Given the description of an element on the screen output the (x, y) to click on. 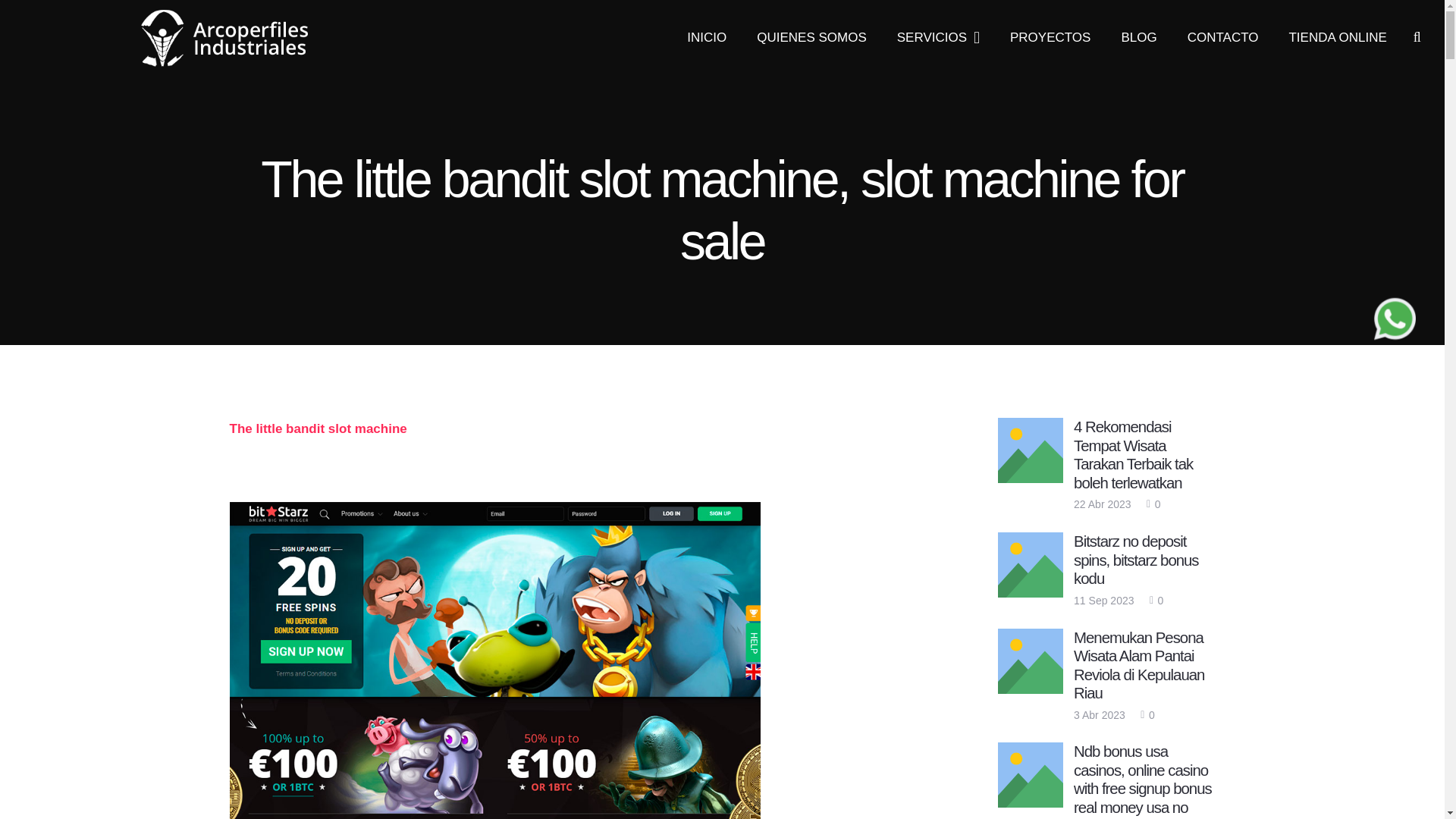
Bitstarz no deposit spins, bitstarz bonus kodu (1136, 560)
CONTACTO (1223, 38)
SERVICIOS (938, 38)
QUIENES SOMOS (811, 38)
TIENDA ONLINE (1336, 38)
INICIO (706, 38)
PROYECTOS (1049, 38)
The little bandit slot machine (317, 428)
